Given the description of an element on the screen output the (x, y) to click on. 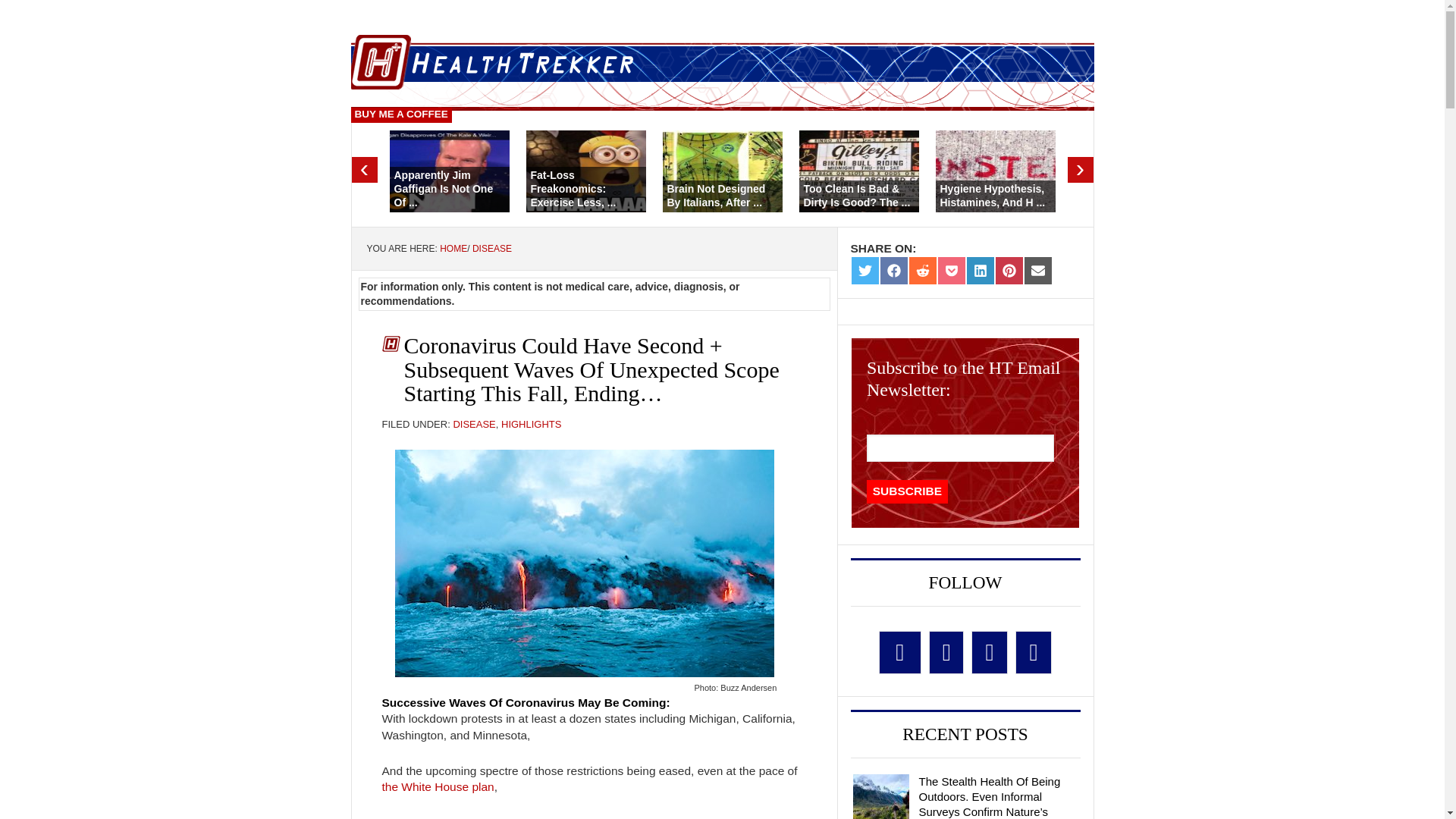
BUY ME A COFFEE (400, 115)
Hygiene Hypothesis, Histamines, And H ... (992, 195)
Subscribe To The HealthTrekker RSS Feed (1033, 652)
Apparently Jim Gaffigan Is Not One Of ... (443, 188)
HIGHLIGHTS (530, 423)
Follow HealthTrekker On Pinterest (989, 652)
HOME (453, 247)
Brain Not Designed By Italians, After ... (715, 195)
DISEASE (491, 247)
SUBSCRIBE (906, 491)
DISEASE (473, 423)
Fat-Loss Freakonomics: Exercise Less, ... (573, 188)
Follow HealthTrekker On Twitter (945, 652)
Follow HealthTrekker On Facebook (900, 652)
